Given the description of an element on the screen output the (x, y) to click on. 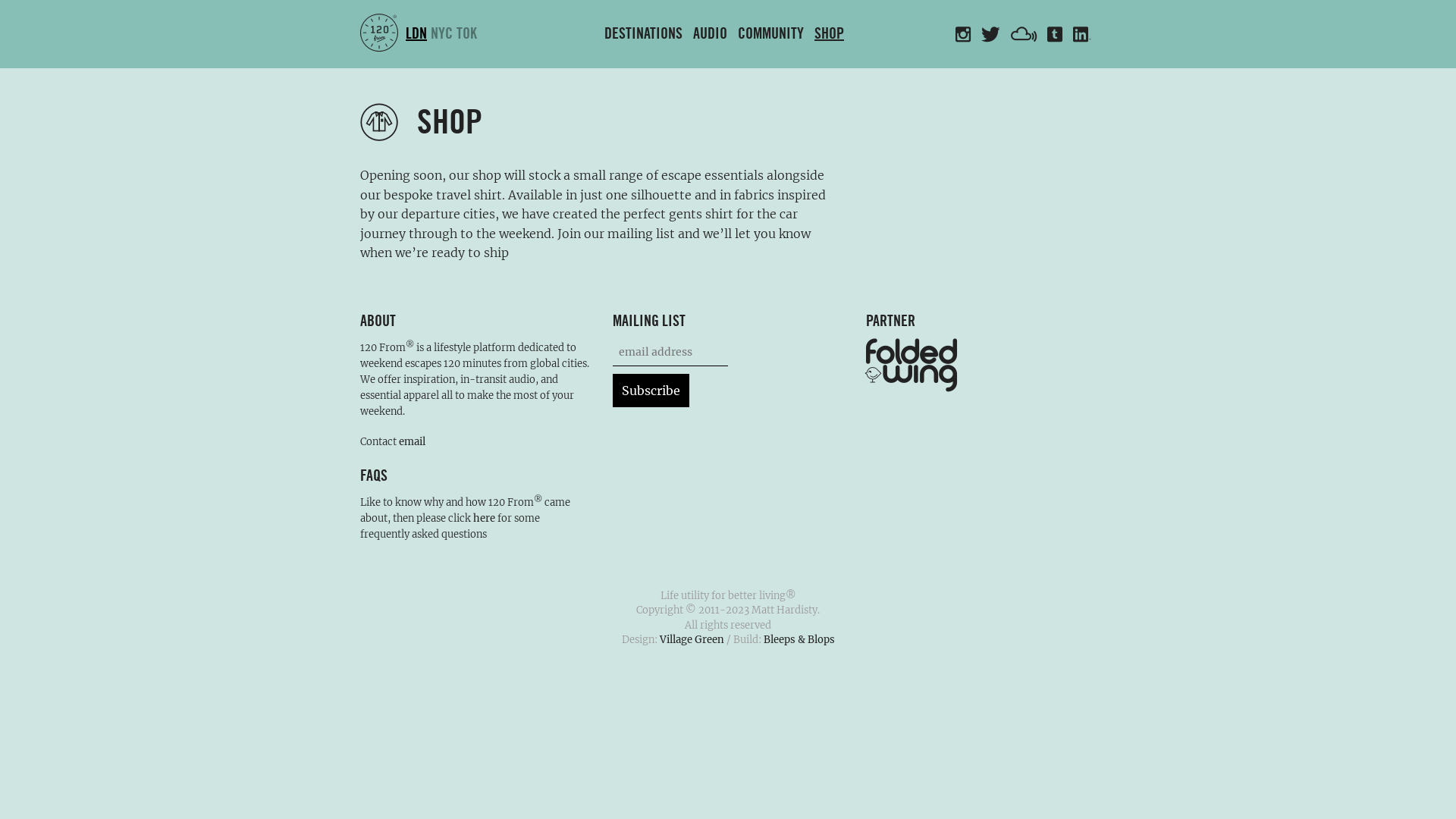
Bleeps & Blops Element type: text (798, 639)
AUDIO Element type: text (710, 33)
Village Green Element type: text (691, 639)
COMMUNITY Element type: text (770, 33)
Subscribe Element type: text (650, 390)
here Element type: text (484, 517)
SHOP Element type: text (829, 33)
email Element type: text (411, 441)
DESTINATIONS Element type: text (643, 33)
